Given the description of an element on the screen output the (x, y) to click on. 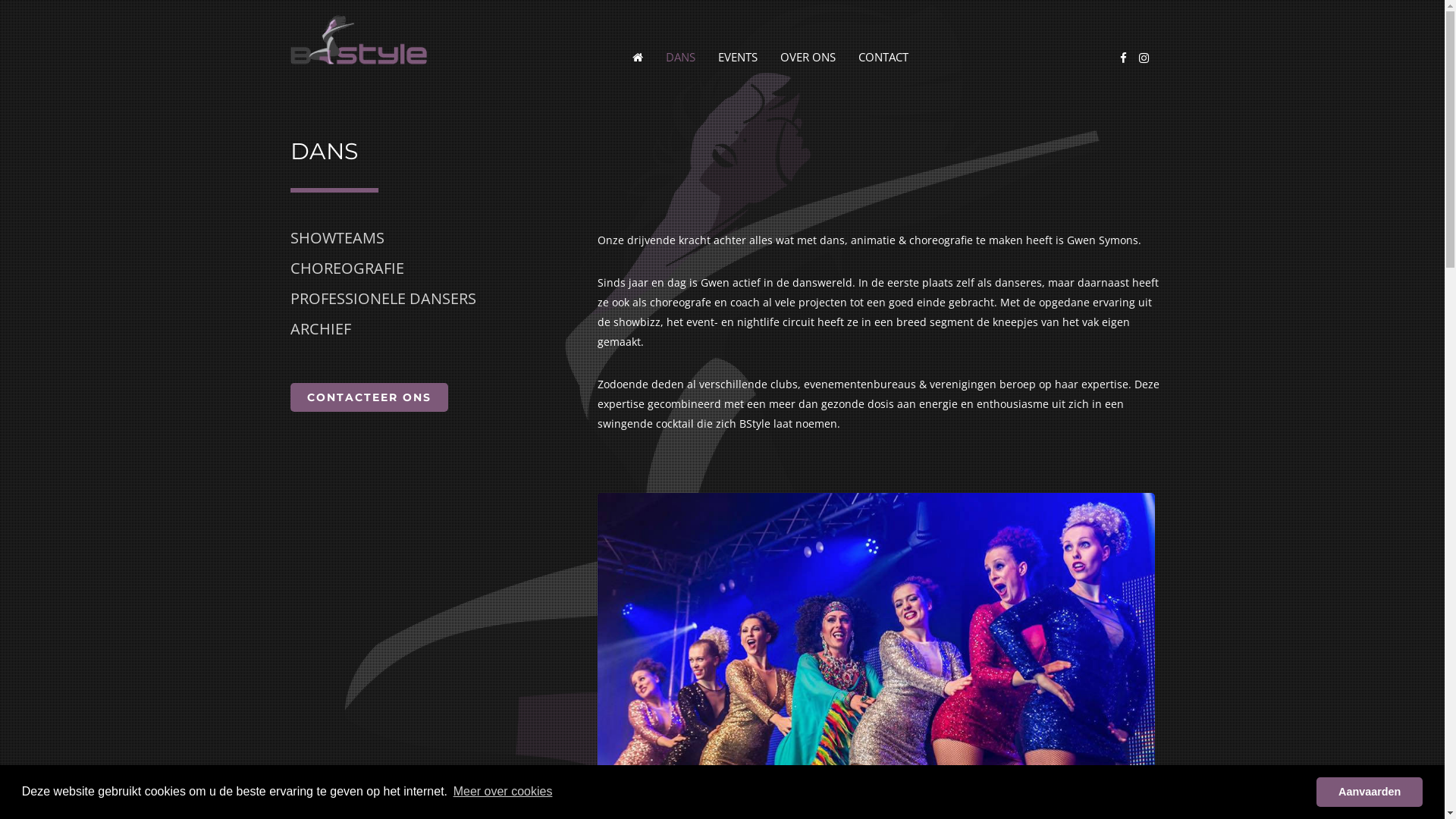
CONTACTEER ONS Element type: text (368, 396)
CHOREOGRAFIE Element type: text (346, 267)
EVENTS Element type: text (737, 56)
SHOWTEAMS Element type: text (336, 237)
CONTACT Element type: text (882, 56)
Aanvaarden Element type: text (1369, 791)
PROFESSIONELE DANSERS Element type: text (382, 298)
Meer over cookies Element type: text (502, 791)
OVER ONS Element type: text (807, 56)
ARCHIEF Element type: text (319, 328)
DANS Element type: text (679, 56)
